Given the description of an element on the screen output the (x, y) to click on. 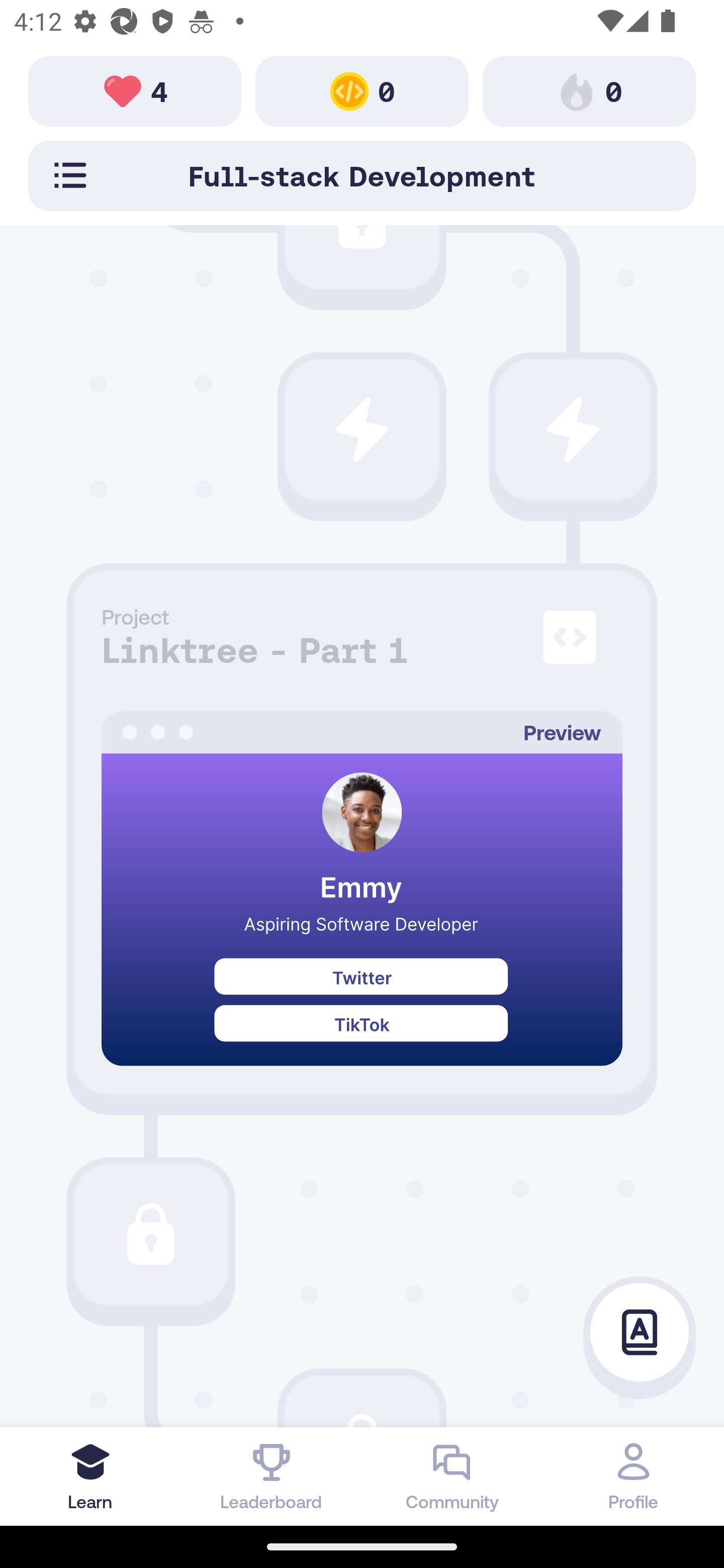
Path Toolbar Image 4 (134, 90)
Path Toolbar Image 0 (361, 90)
Path Toolbar Image 0 (588, 90)
Path Toolbar Selector Full-stack Development (361, 175)
Path Icon (361, 429)
Path Icon (572, 429)
Path Icon (150, 1234)
Glossary Icon (639, 1332)
Leaderboard (271, 1475)
Community (452, 1475)
Profile (633, 1475)
